Given the description of an element on the screen output the (x, y) to click on. 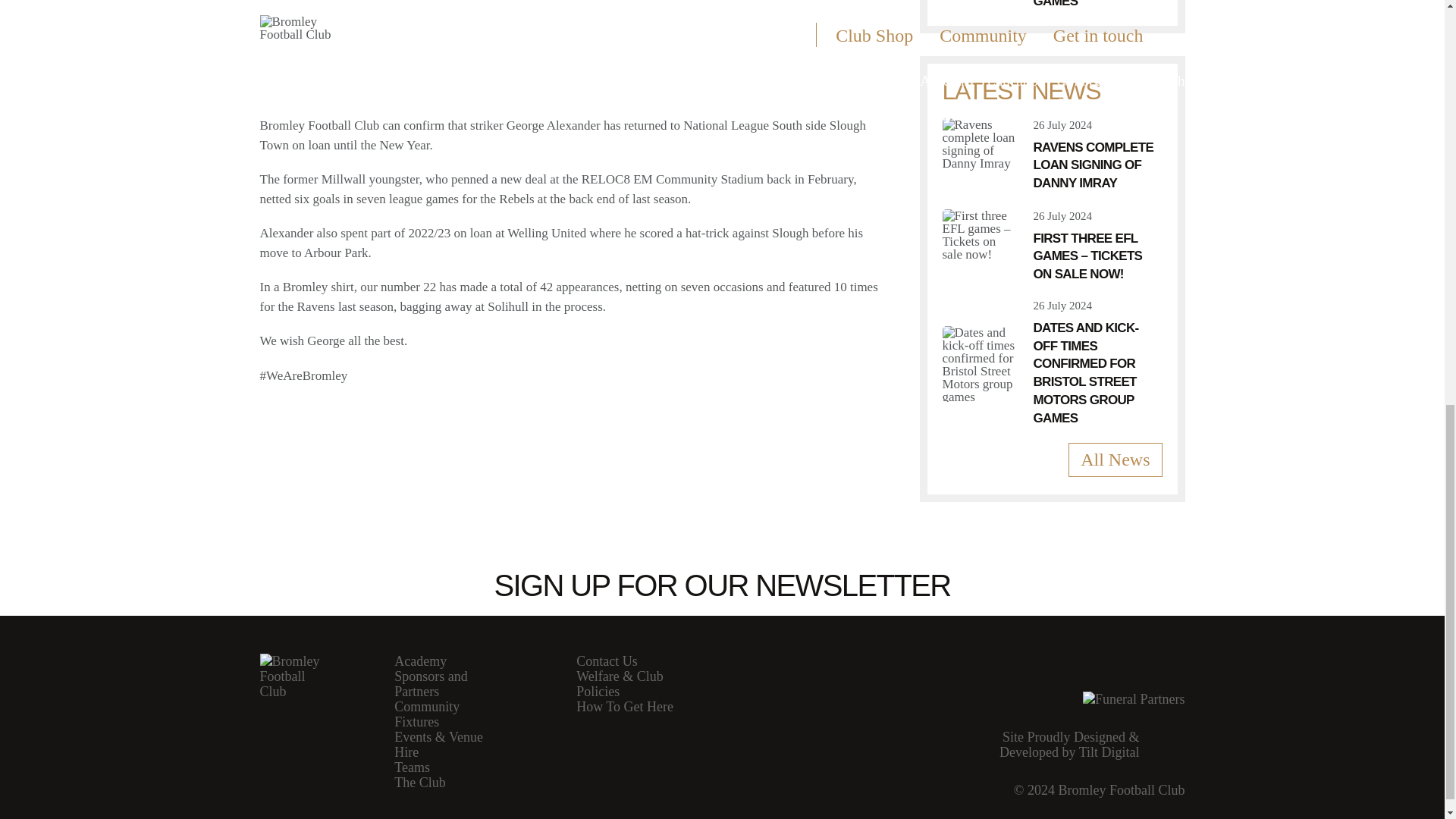
Web Design Kent (1083, 748)
